Given the description of an element on the screen output the (x, y) to click on. 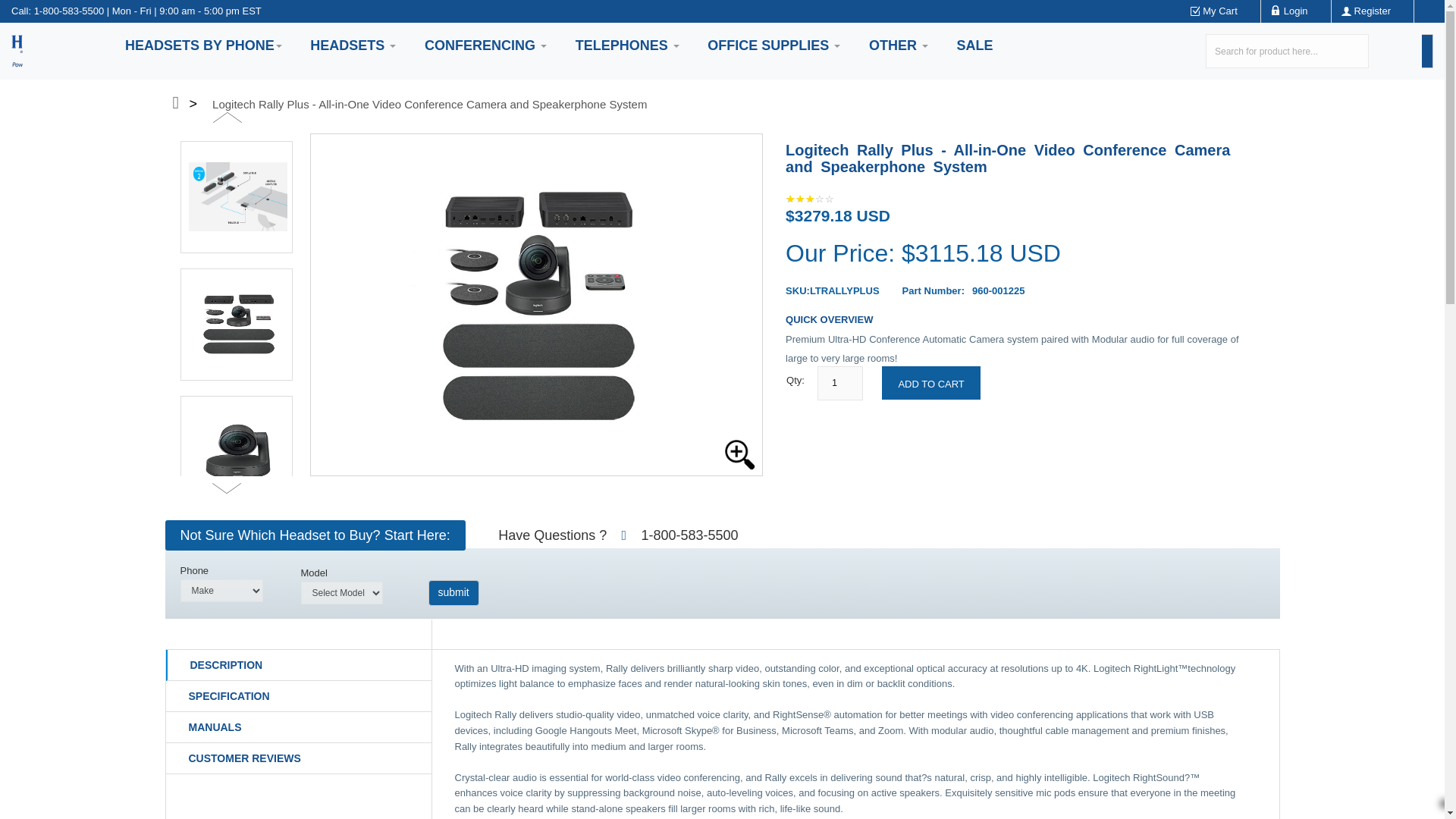
Login (1295, 10)
HEADSETS (353, 44)
Register (1372, 10)
HEADSETS BY PHONE (203, 44)
submit (453, 592)
My Cart (1219, 10)
1-800-583-5500 (68, 10)
CONFERENCING (485, 44)
1 (839, 383)
My Cart (1219, 10)
